Given the description of an element on the screen output the (x, y) to click on. 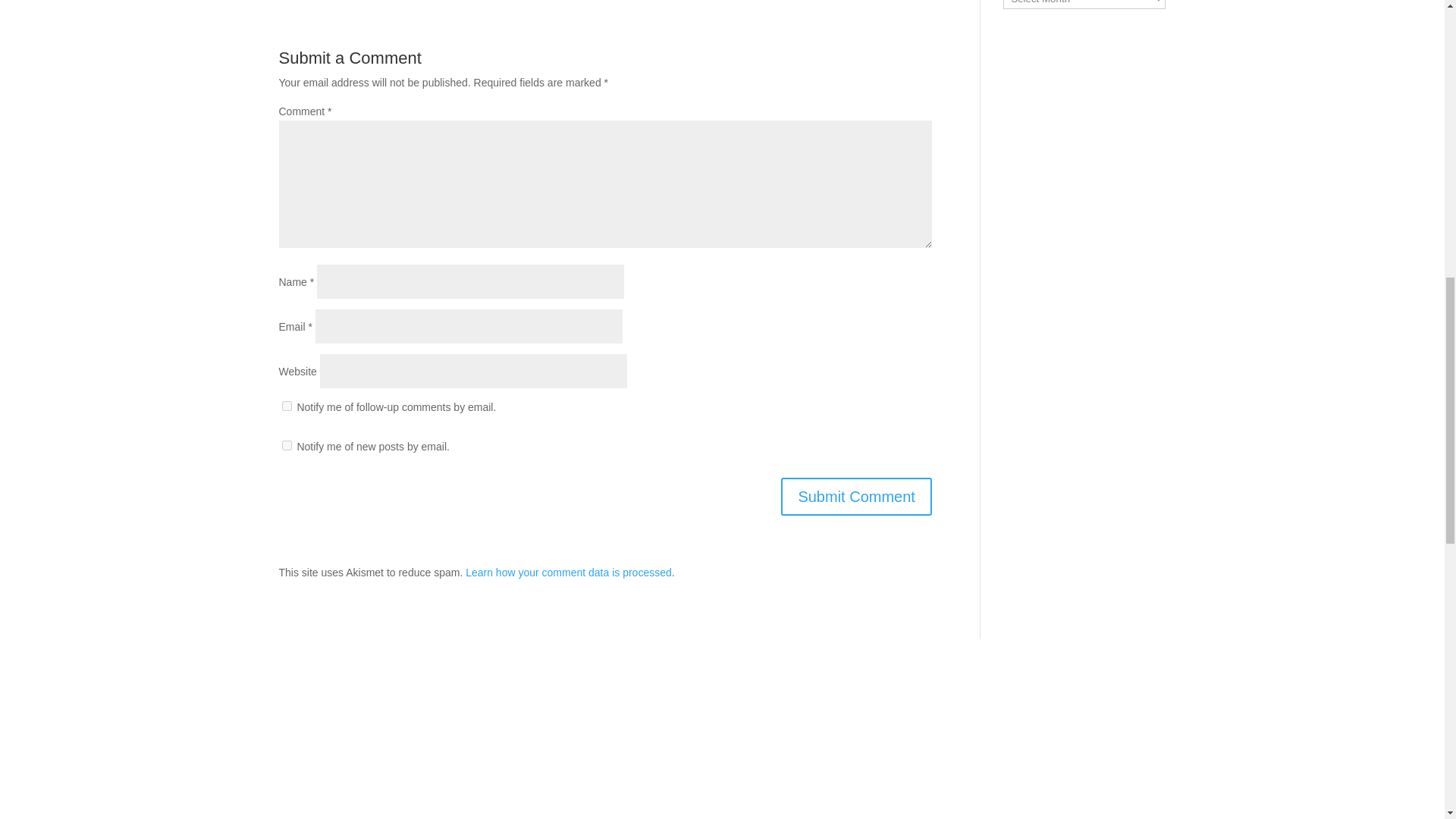
subscribe (287, 406)
Learn how your comment data is processed (568, 572)
subscribe (287, 445)
Submit Comment (855, 496)
Submit Comment (855, 496)
